Given the description of an element on the screen output the (x, y) to click on. 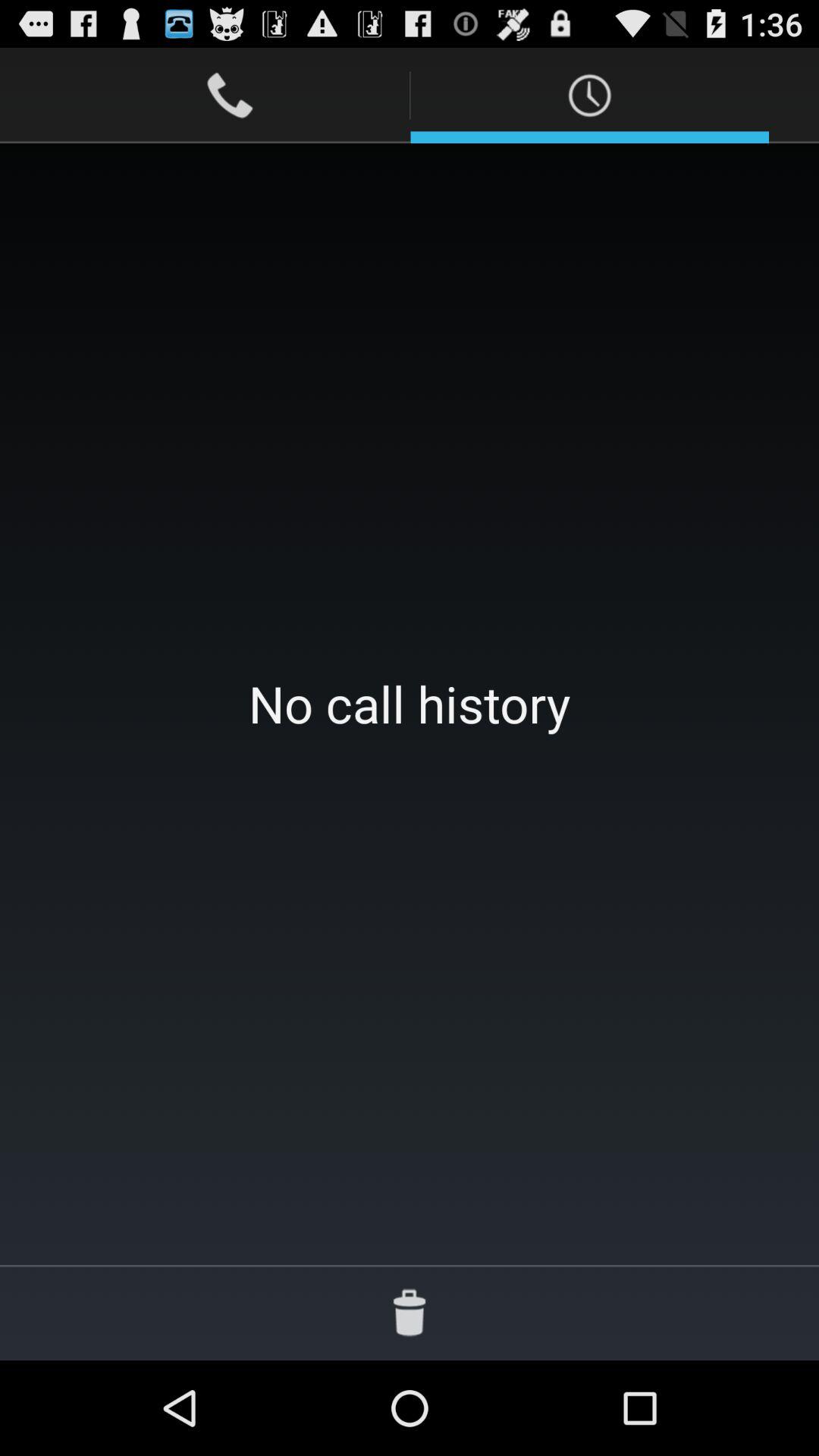
select the icon below the no call history (409, 1312)
